Given the description of an element on the screen output the (x, y) to click on. 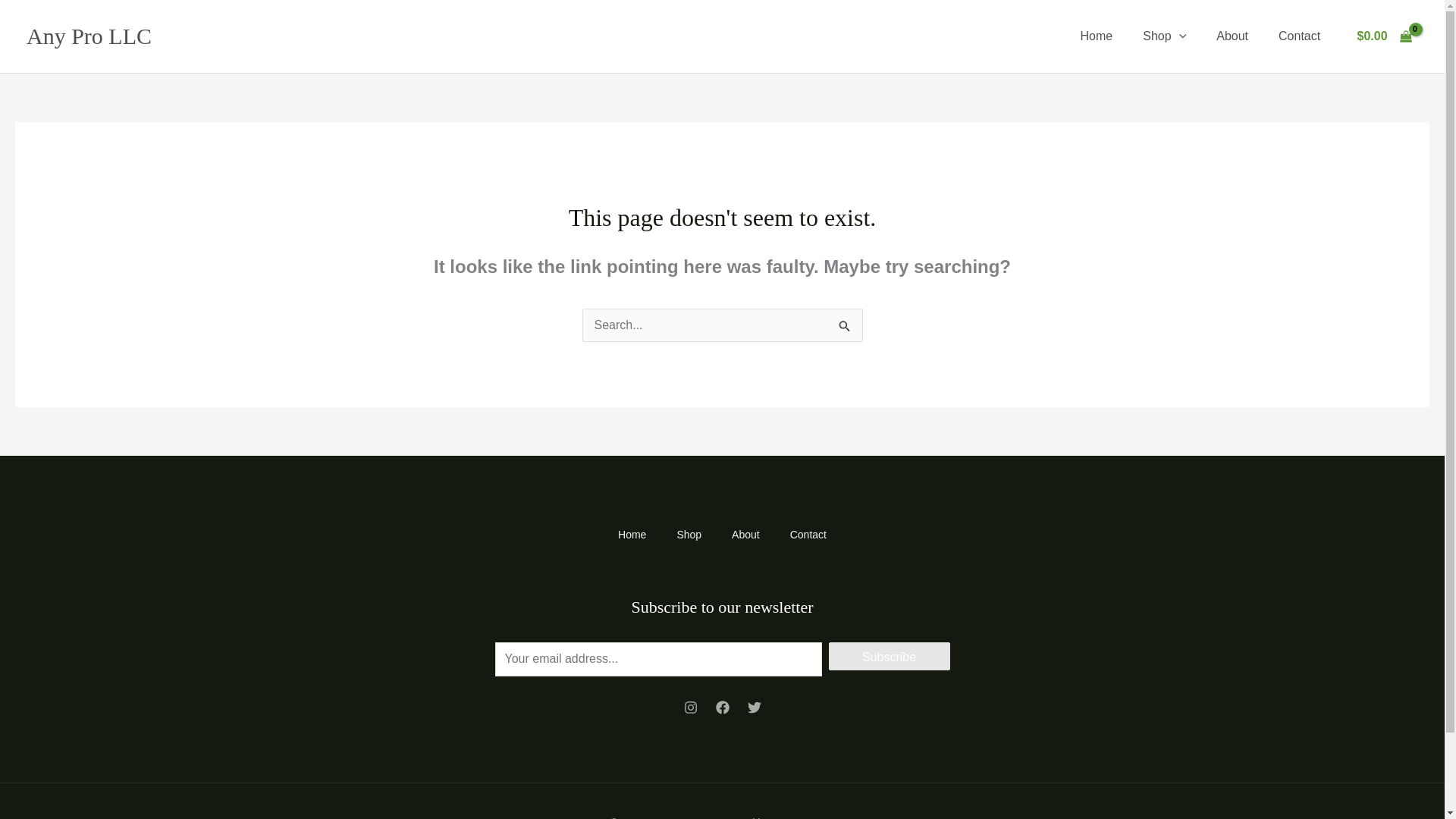
wpforms-submit (888, 655)
Shop (688, 535)
Shop (1163, 36)
Home (631, 535)
Any Pro LLC (88, 35)
Contact (1299, 36)
About (745, 535)
Contact (807, 535)
